Given the description of an element on the screen output the (x, y) to click on. 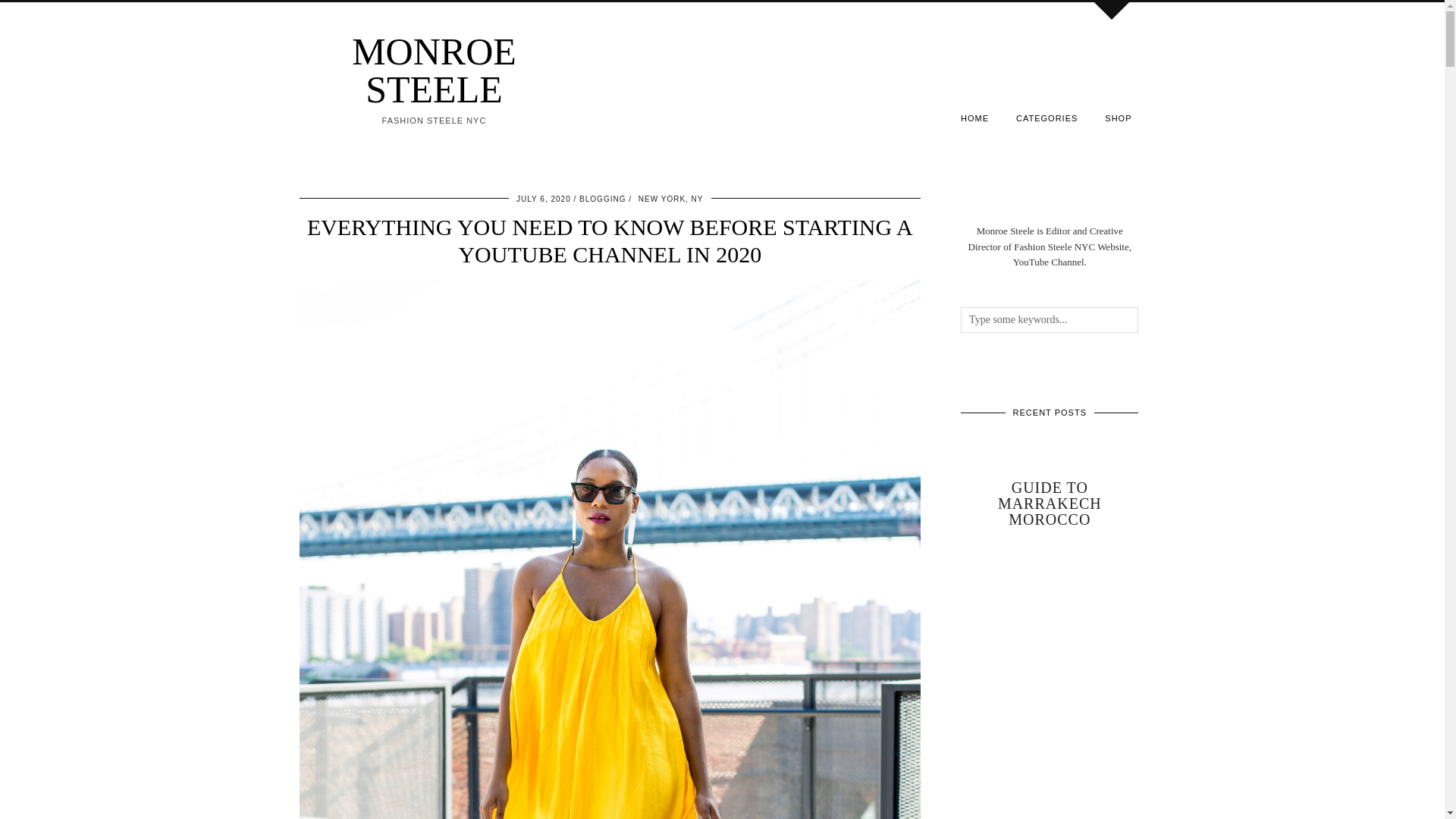
SHOP (1117, 118)
CATEGORIES (1046, 118)
MONROE STEELE (434, 70)
MONROE STEELE (434, 70)
HOME (975, 118)
